Given the description of an element on the screen output the (x, y) to click on. 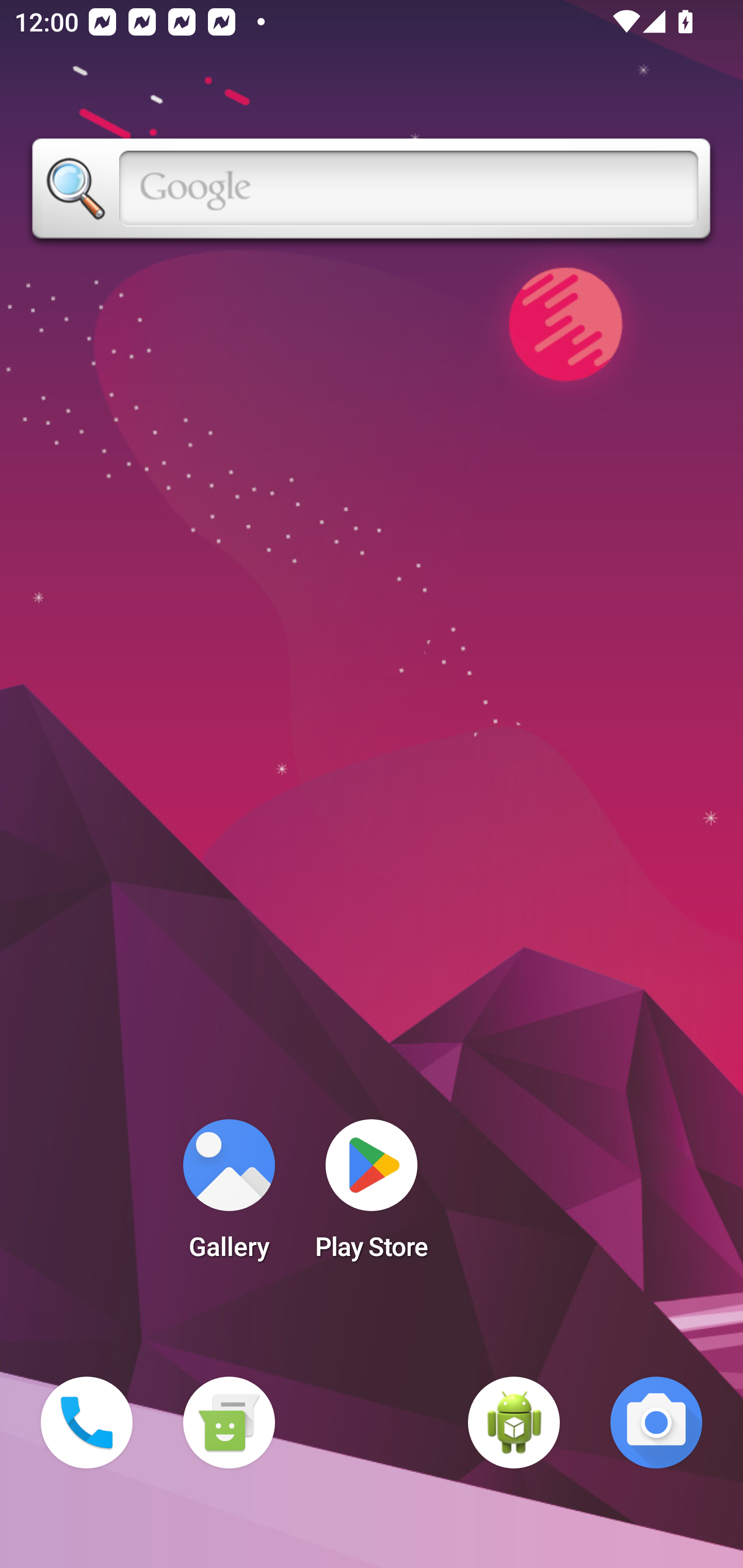
Gallery (228, 1195)
Play Store (371, 1195)
Phone (86, 1422)
Messaging (228, 1422)
WebView Browser Tester (513, 1422)
Camera (656, 1422)
